Given the description of an element on the screen output the (x, y) to click on. 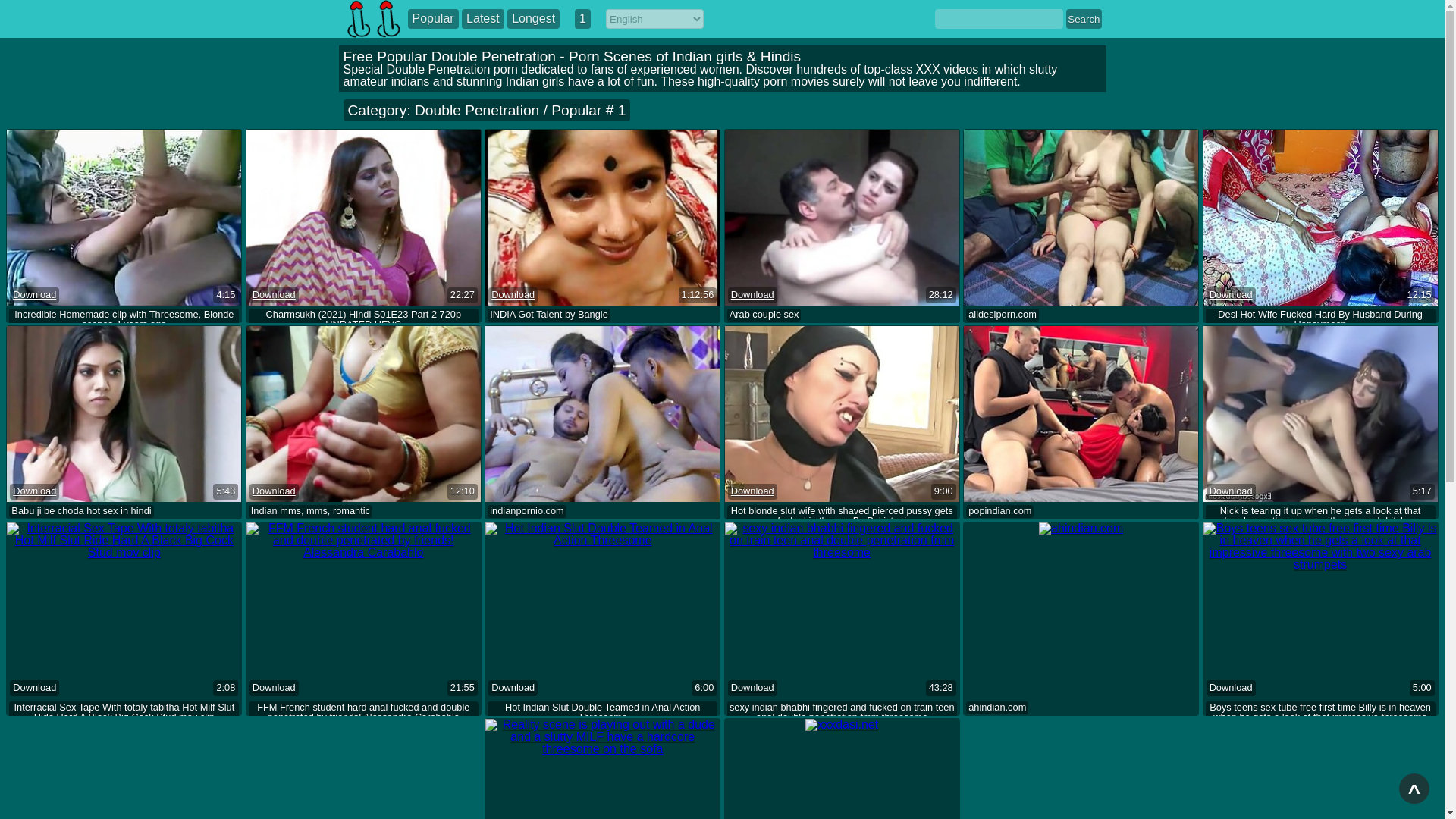
Download (752, 295)
Webcam (906, 328)
Wife (941, 328)
Latest (482, 18)
Gangbang (670, 328)
Download (34, 295)
Amateur (507, 328)
Anal (542, 328)
Download (513, 295)
Amateur (747, 328)
